Given the description of an element on the screen output the (x, y) to click on. 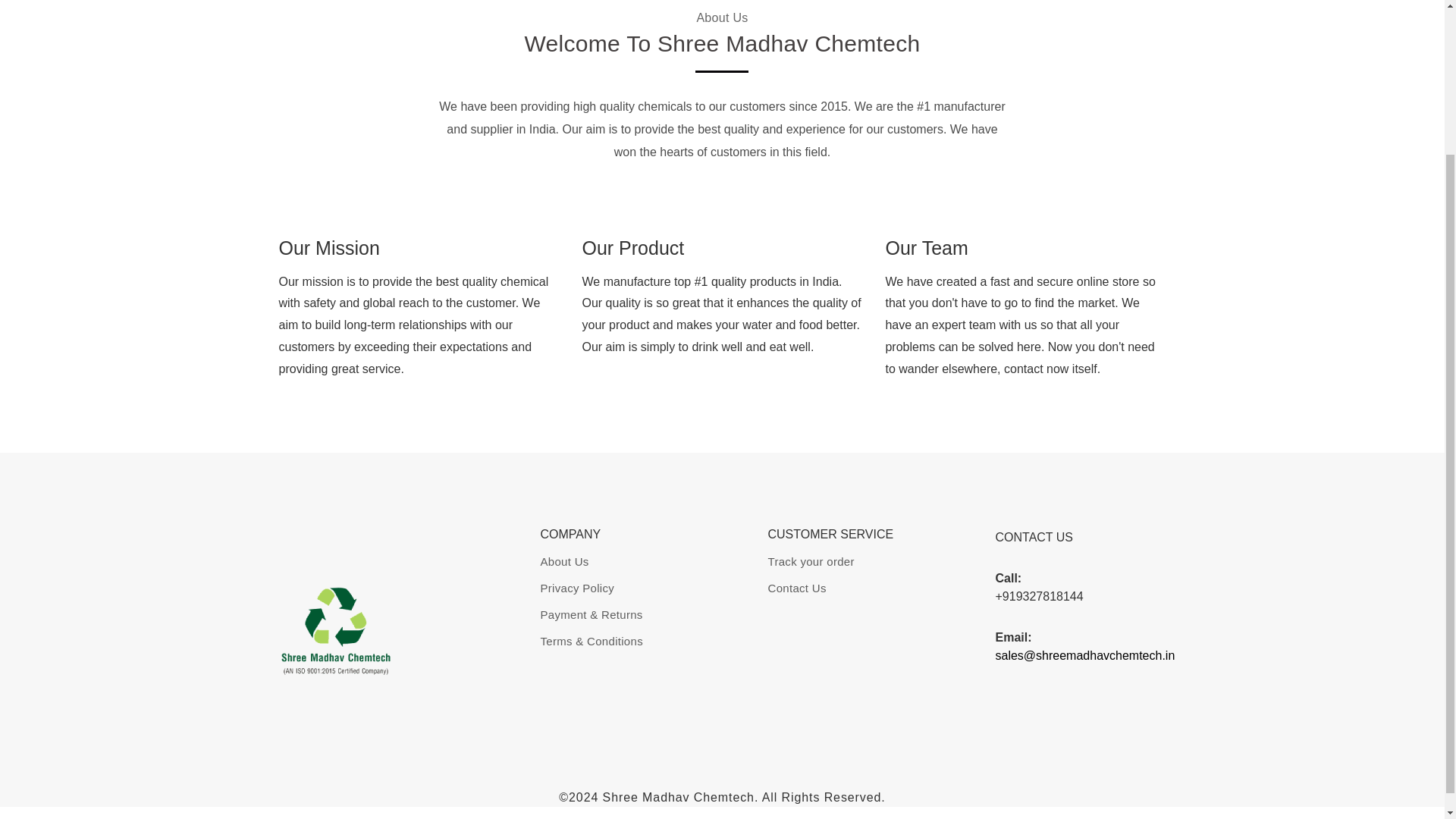
Privacy Policy (577, 587)
Track your order (810, 561)
About Us (564, 561)
Contact Us (796, 587)
